Given the description of an element on the screen output the (x, y) to click on. 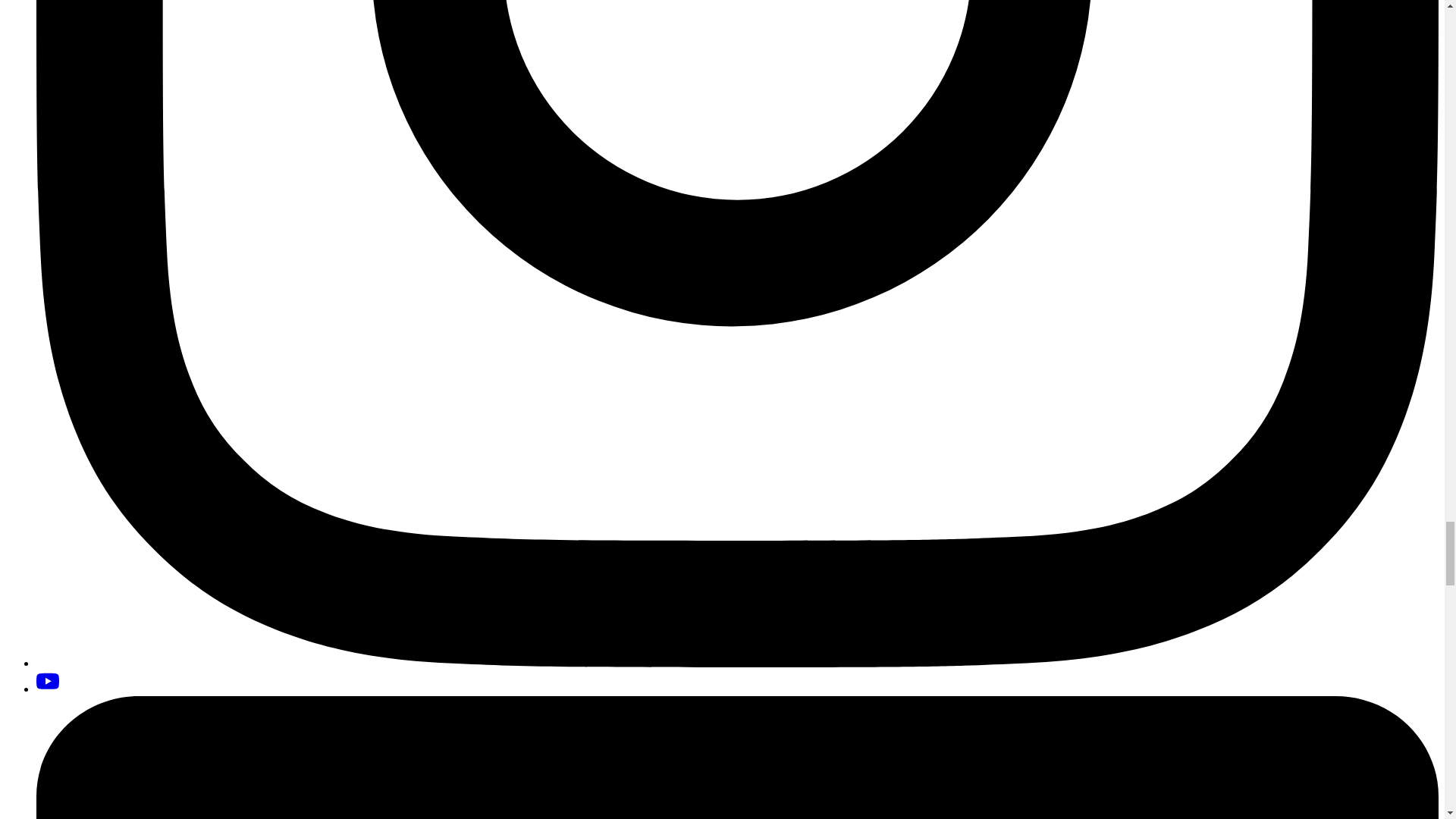
YouTube (47, 681)
